Given the description of an element on the screen output the (x, y) to click on. 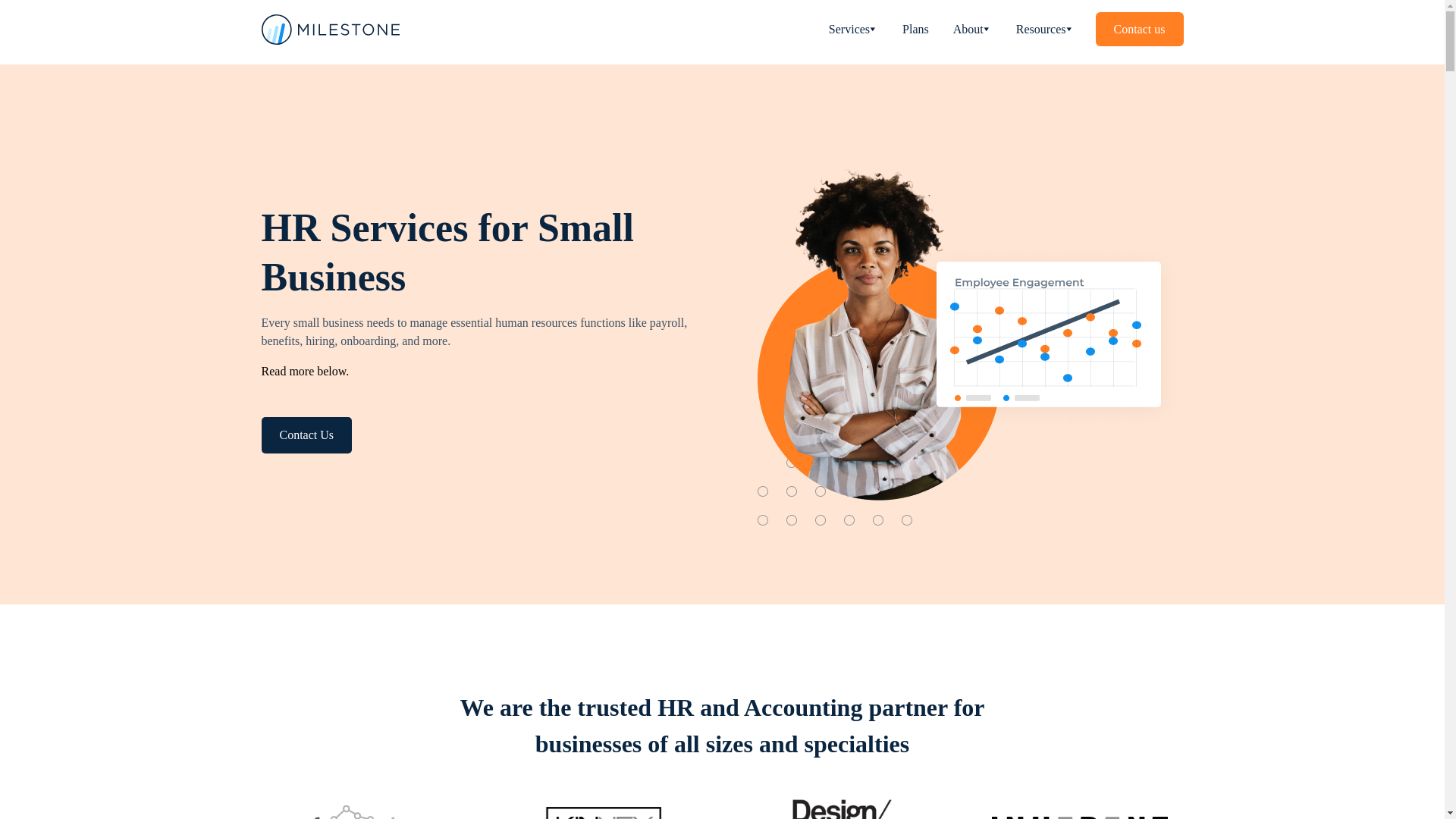
Services (37, 17)
Plans (98, 17)
Services (852, 28)
About (972, 28)
Contact us (1138, 28)
About (155, 17)
Plans (914, 28)
Resources (1045, 28)
